Given the description of an element on the screen output the (x, y) to click on. 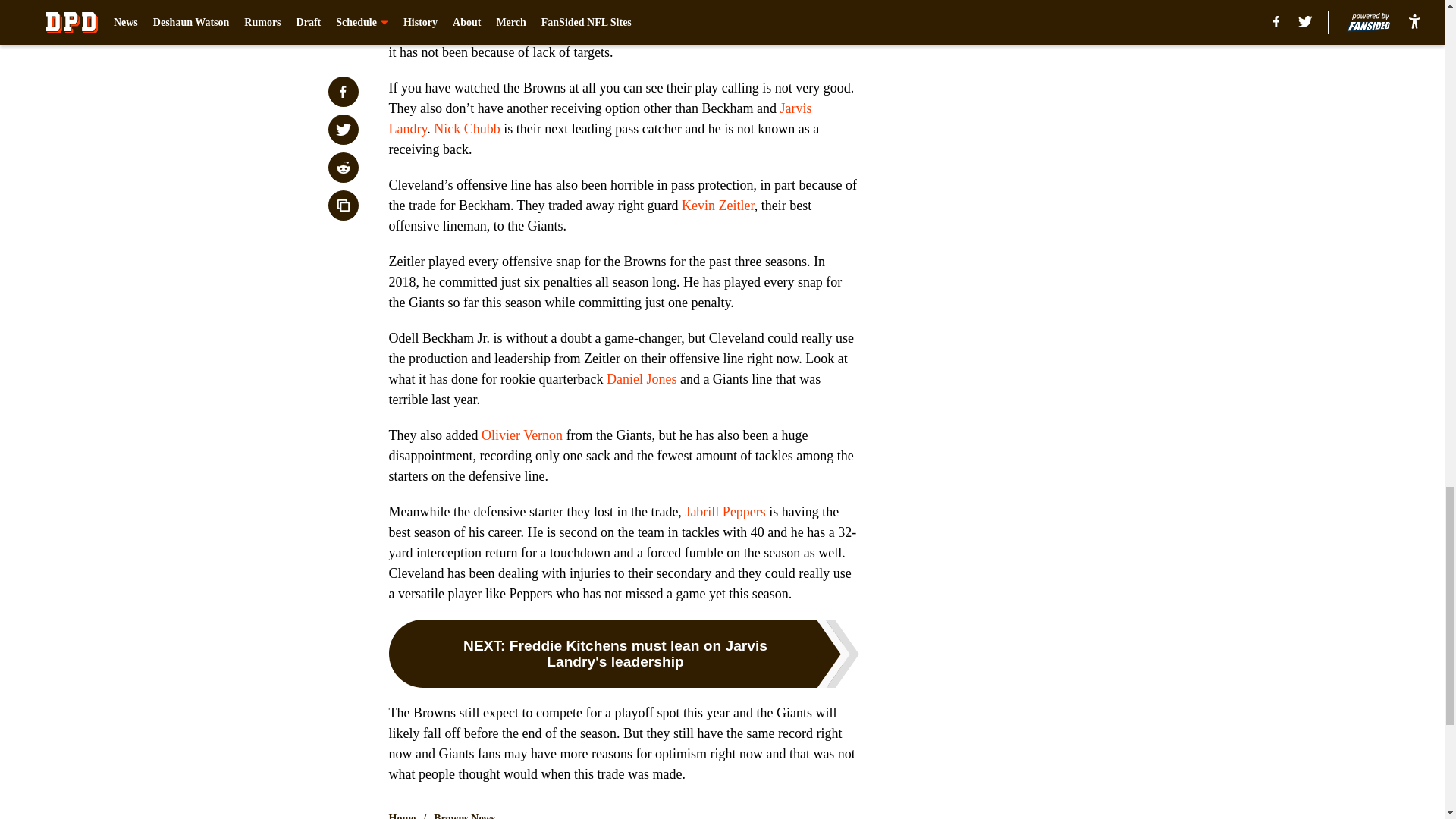
Daniel Jones (642, 378)
Jarvis Landry (599, 118)
Kevin Zeitler (717, 205)
Jabrill Peppers (724, 511)
Home (401, 815)
Nick Chubb (466, 128)
Browns News (464, 815)
Olivier Vernon (521, 435)
